Given the description of an element on the screen output the (x, y) to click on. 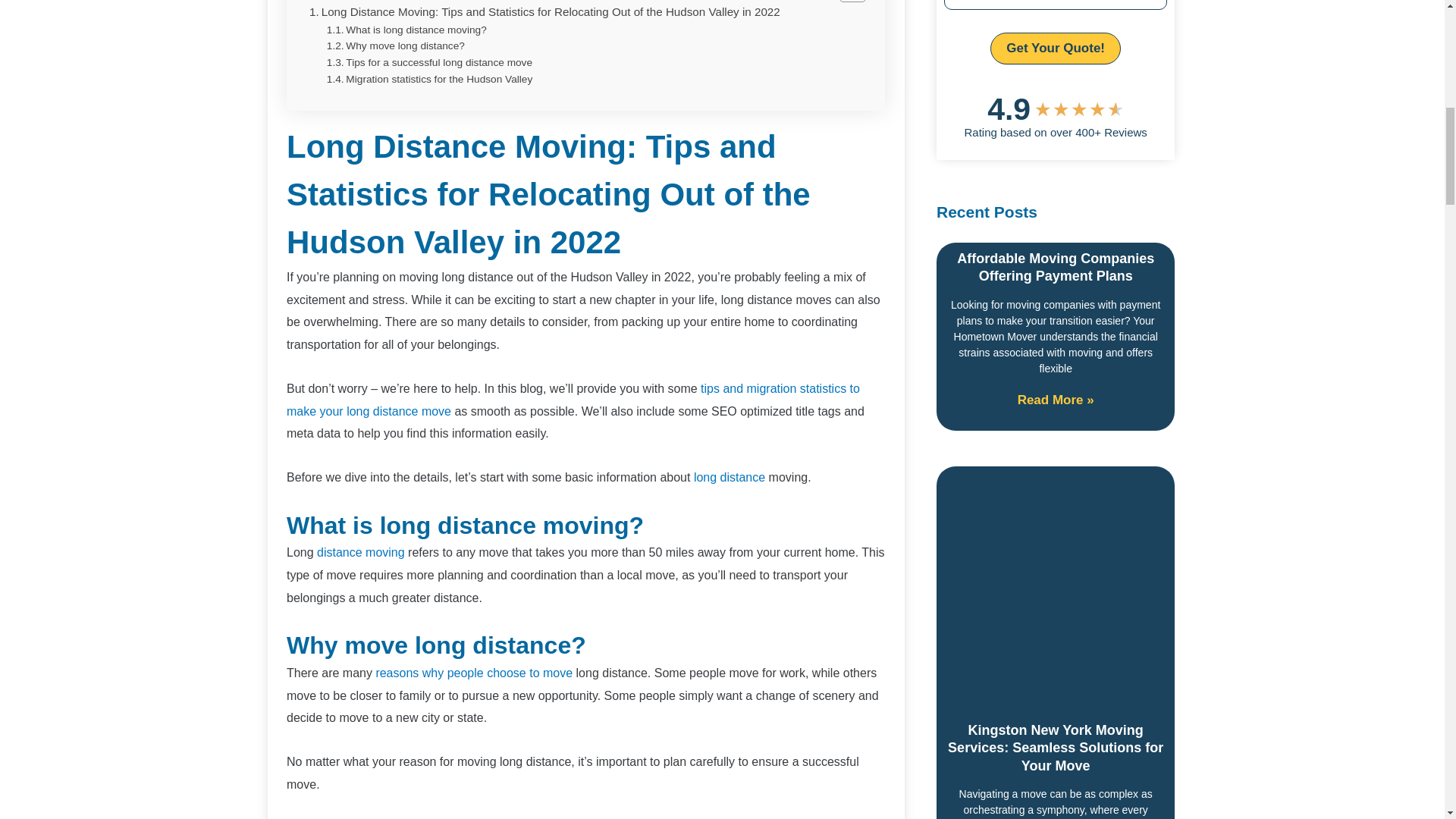
Why move long distance? (395, 45)
What is long distance moving? (406, 29)
Tips for a successful long distance move (429, 62)
Migration statistics for the Hudson Valley (429, 79)
